Given the description of an element on the screen output the (x, y) to click on. 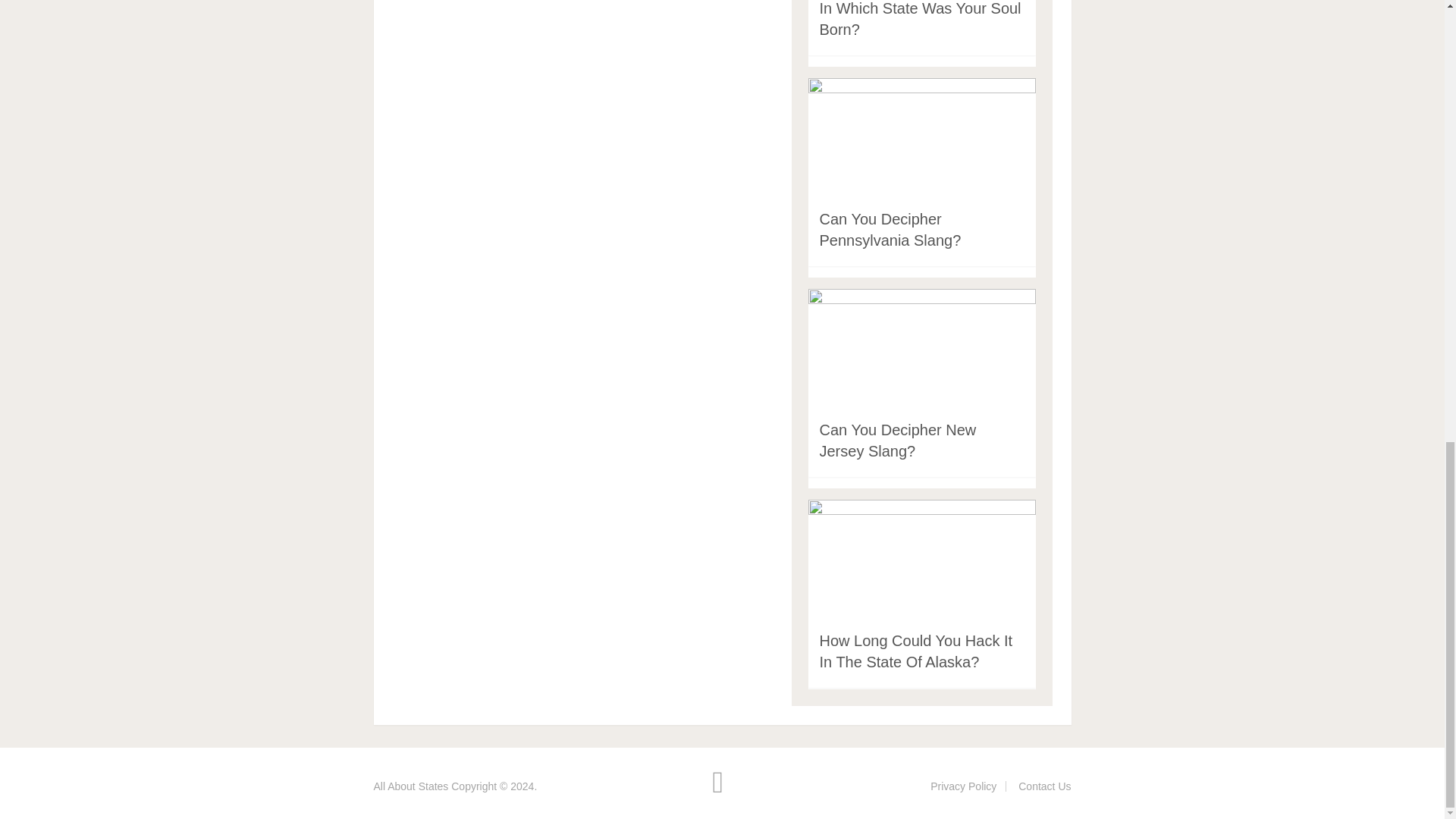
In Which State Was Your Soul Born? (919, 18)
Can You Decipher Pennsylvania Slang? (889, 229)
Can You Decipher Pennsylvania Slang? (889, 229)
How Long Could You Hack It In The State Of Alaska? (914, 651)
Can You Decipher New Jersey Slang? (896, 440)
In Which State Was Your Soul Born? (919, 18)
All About States (410, 786)
